Given the description of an element on the screen output the (x, y) to click on. 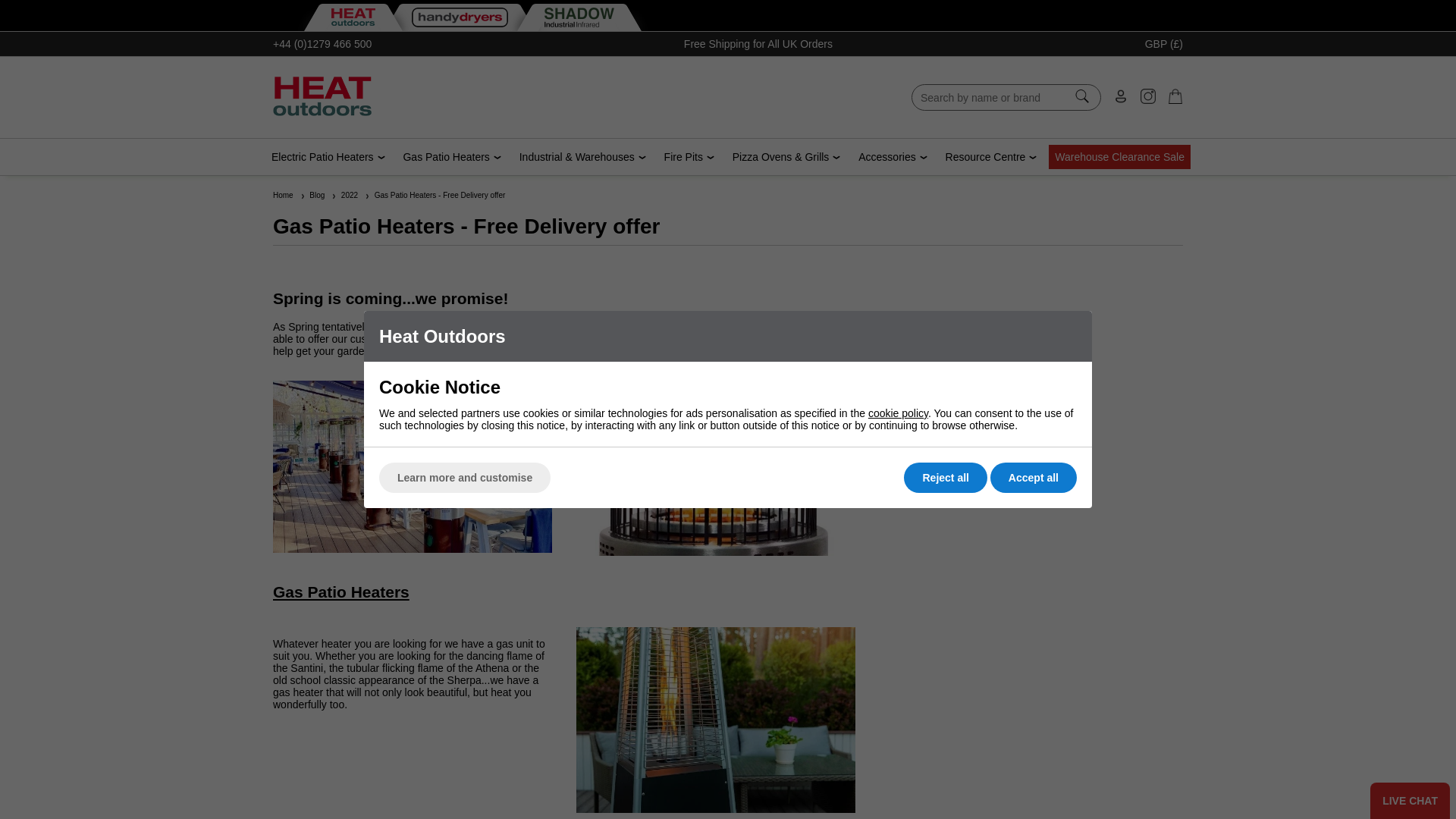
Electric Patio Heaters (322, 156)
Gas Patio Heaters (446, 156)
Fire Pits (683, 156)
Prices displayed in GBP (1163, 43)
Accessories (887, 156)
Customer reviews powered by Trustpilot (641, 97)
